Given the description of an element on the screen output the (x, y) to click on. 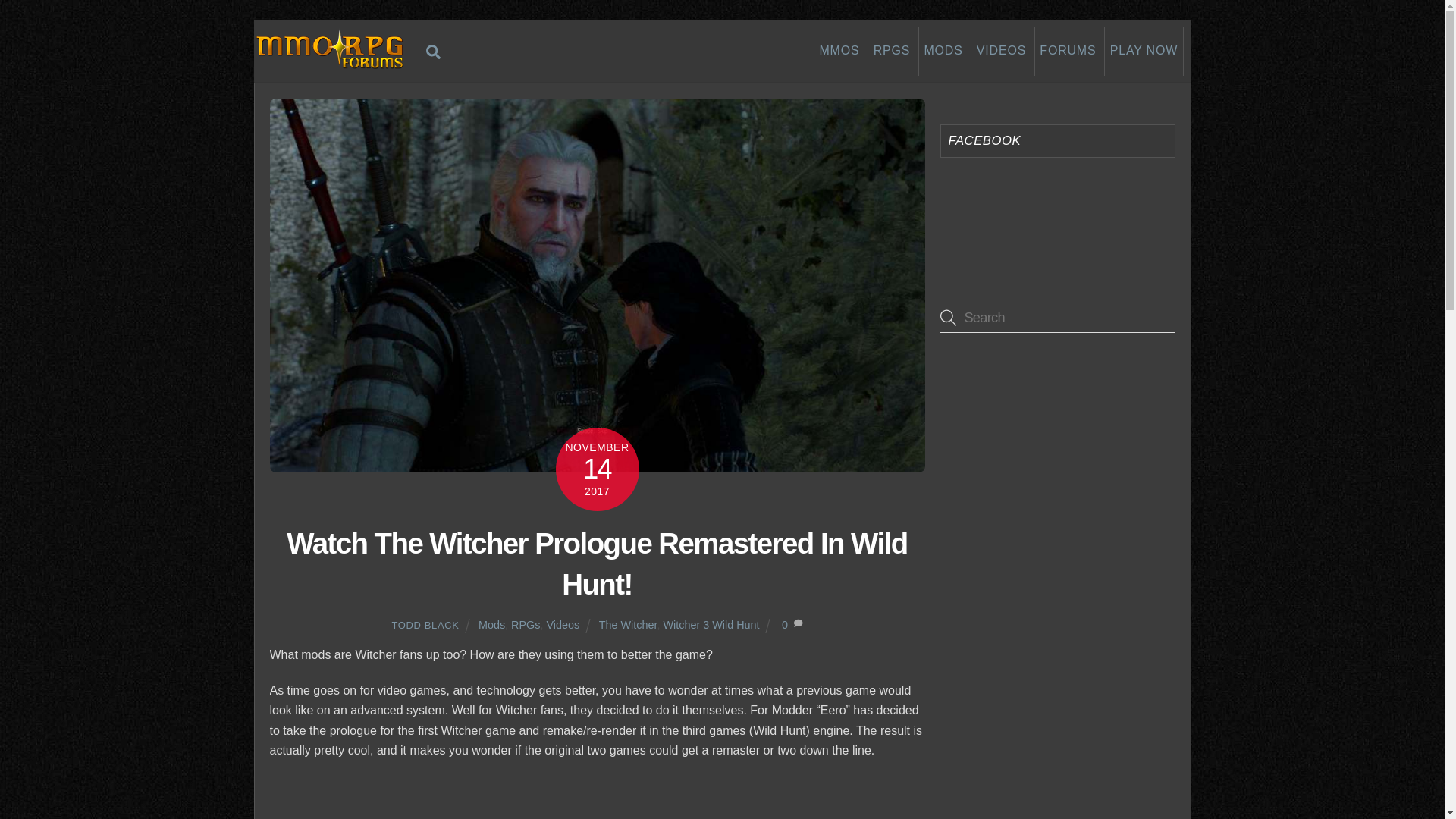
The Witcher (628, 624)
VIDEOS (1000, 51)
MMORPG Forums (328, 62)
Videos (562, 624)
RPGS (890, 51)
FORUMS (1067, 51)
Mods (492, 624)
MODS (943, 51)
Search (433, 51)
RPGs (525, 624)
Search (722, 51)
Watch The Witcher Prologue Remastered In Wild Hunt! (1057, 316)
MMOS (596, 563)
